Given the description of an element on the screen output the (x, y) to click on. 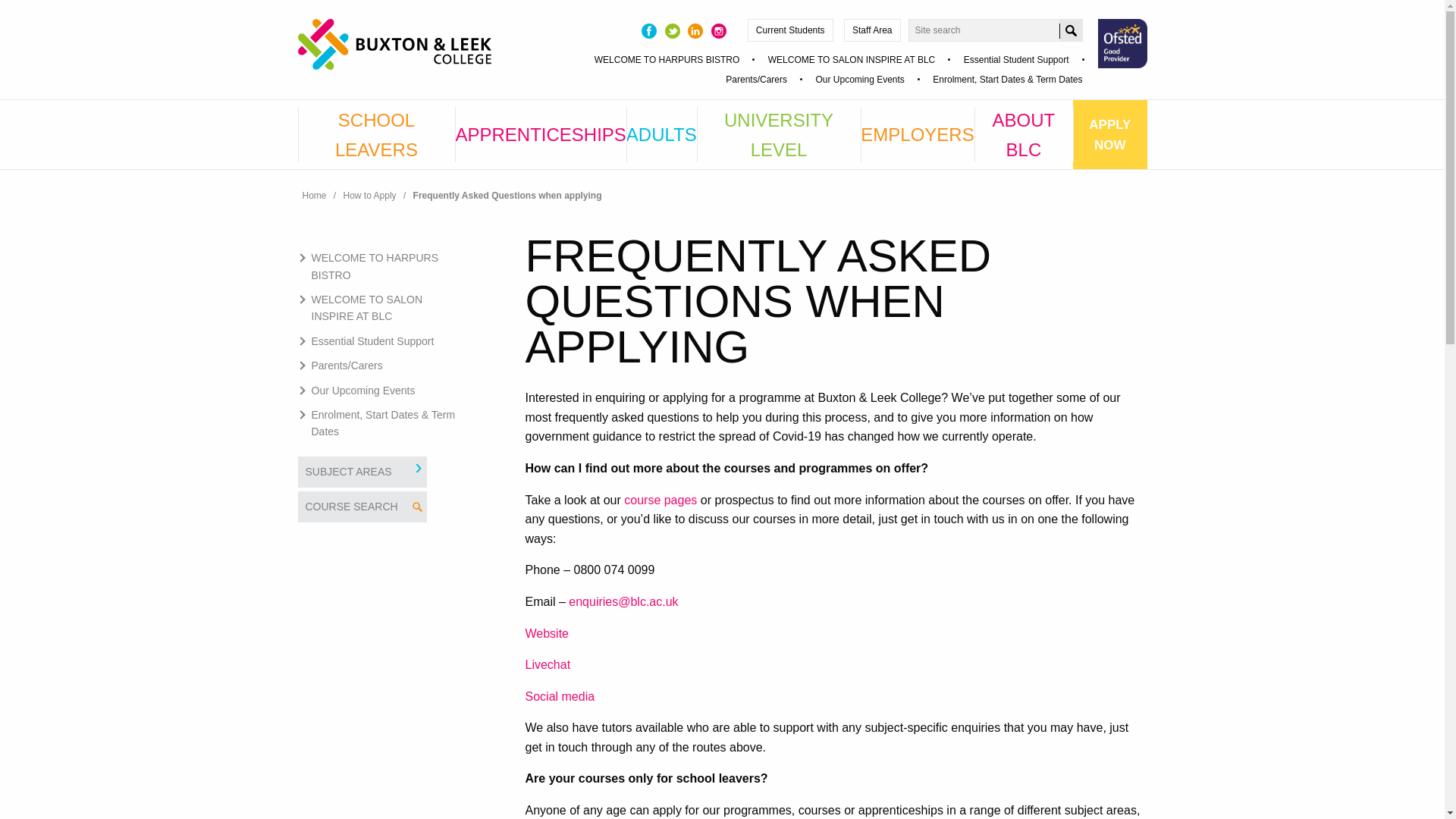
Search (1071, 29)
Our Upcoming Events (859, 79)
Essential Student Support (1015, 59)
WELCOME TO SALON INSPIRE AT BLC (852, 59)
WELCOME TO HARPURS BISTRO (666, 59)
SCHOOL LEAVERS (375, 133)
Staff Area (871, 29)
APPRENTICESHIPS (540, 133)
Current Students (790, 29)
